Given the description of an element on the screen output the (x, y) to click on. 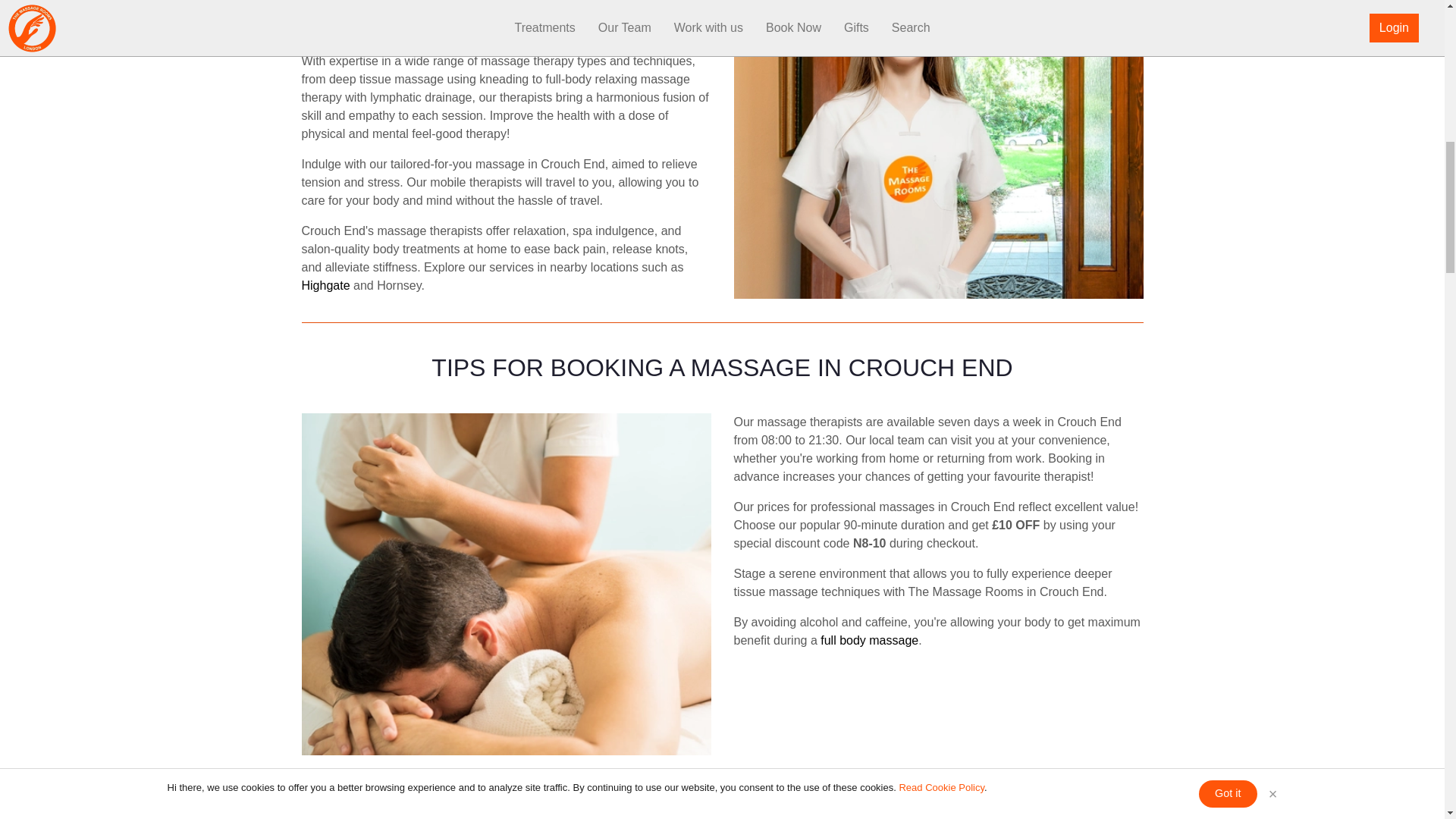
full body massage (869, 640)
Highgate (325, 285)
